Given the description of an element on the screen output the (x, y) to click on. 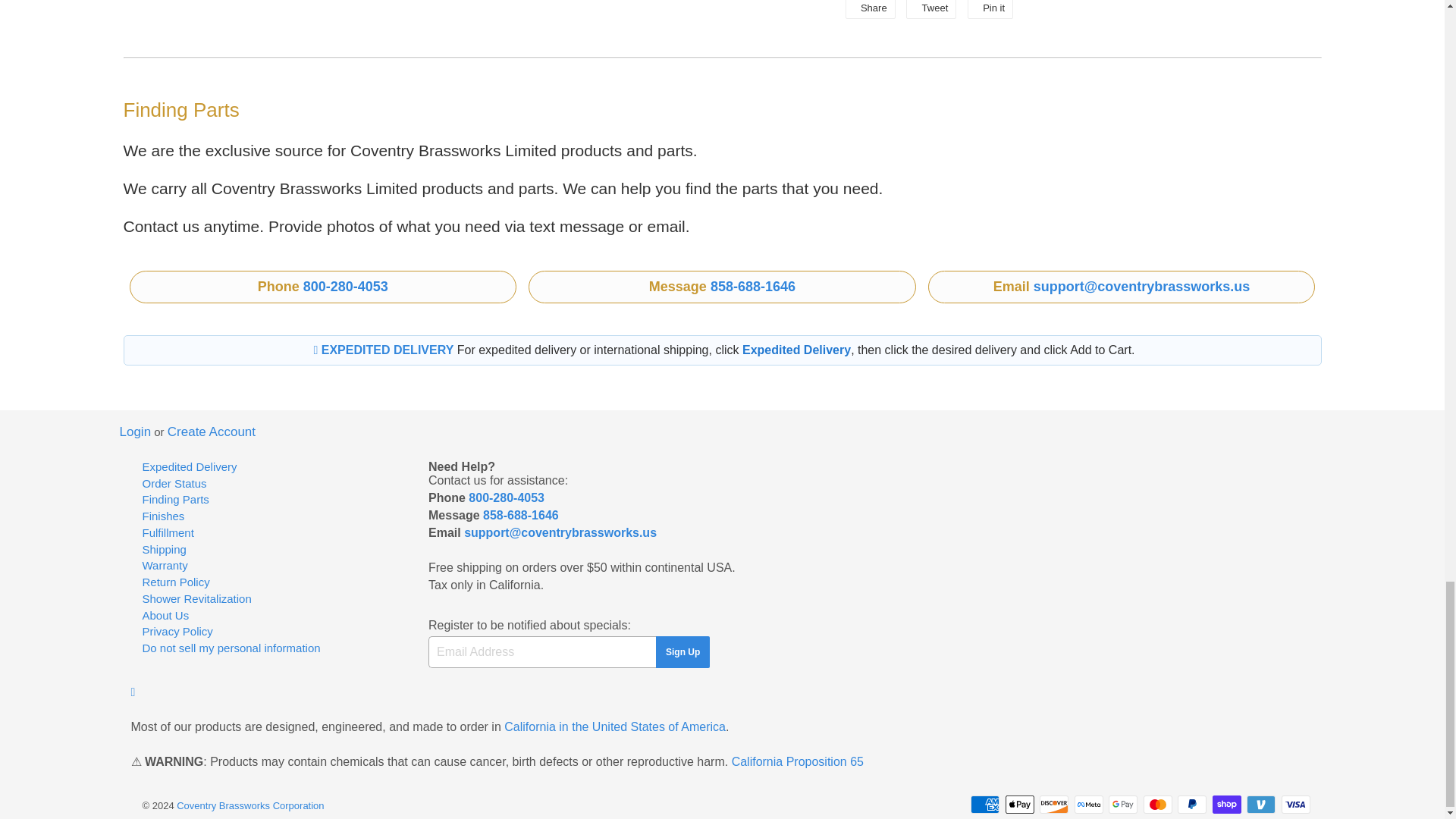
Tweet on Twitter (930, 9)
Pin on Pinterest (990, 9)
Share on Facebook (869, 9)
Telephone: 800-280-4053 (506, 497)
Text Message 858-688-1646 (521, 514)
